Given the description of an element on the screen output the (x, y) to click on. 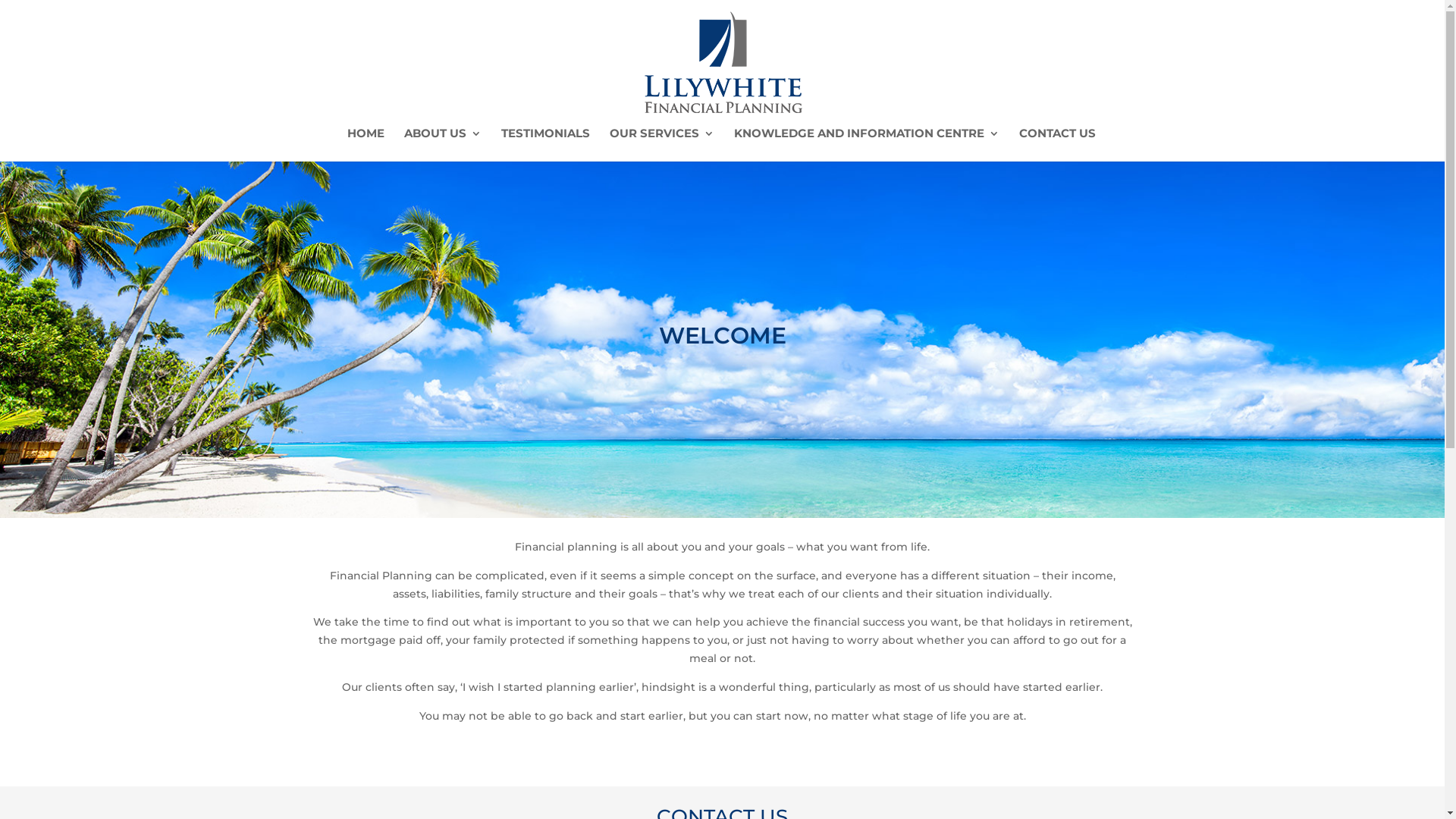
TESTIMONIALS Element type: text (545, 144)
OUR SERVICES Element type: text (661, 144)
KNOWLEDGE AND INFORMATION CENTRE Element type: text (866, 144)
HOME Element type: text (365, 144)
ABOUT US Element type: text (442, 144)
CONTACT US Element type: text (1057, 144)
